Given the description of an element on the screen output the (x, y) to click on. 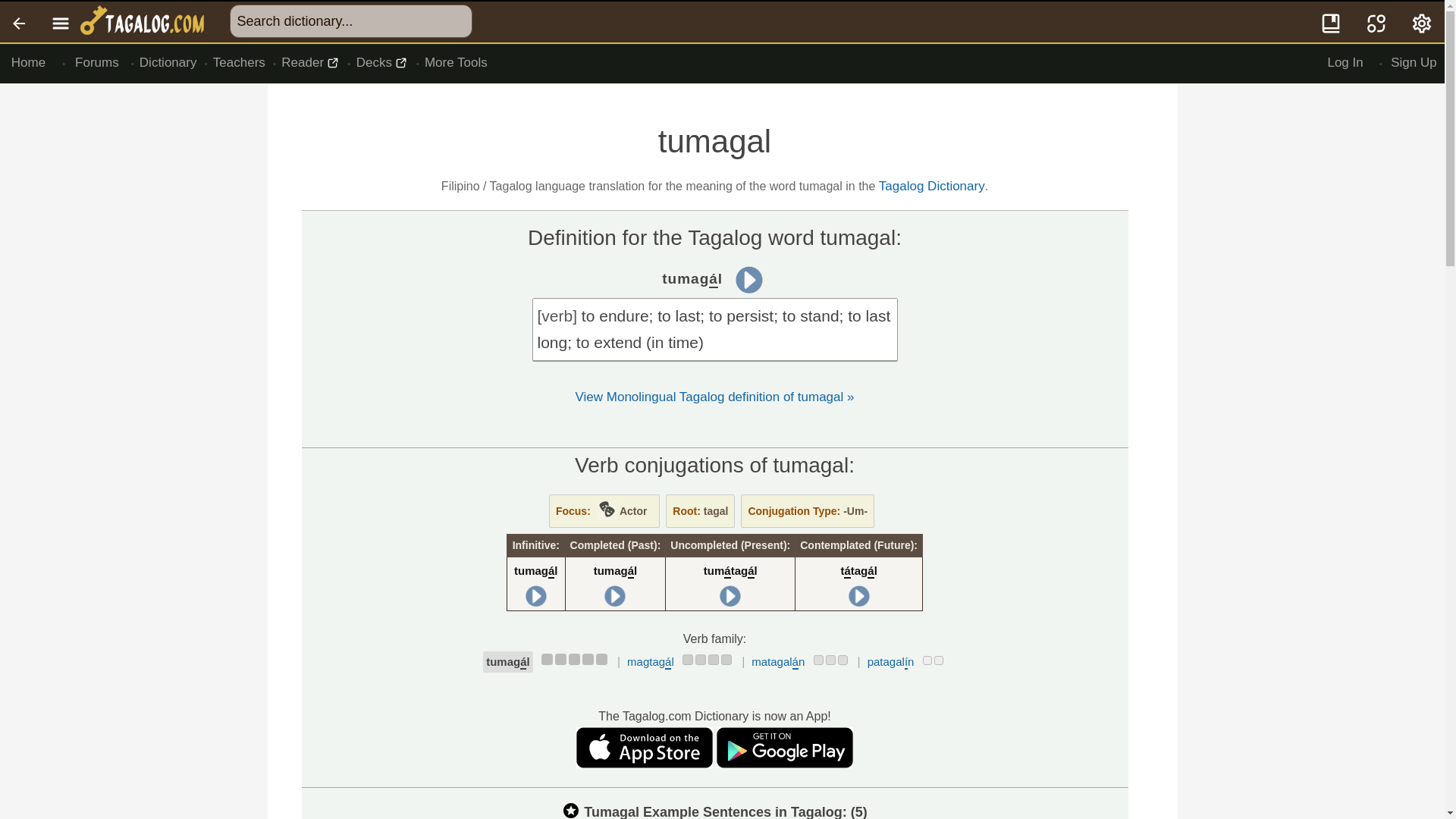
More Tools (455, 62)
Translate To English (1376, 21)
My Account (1422, 21)
Sign Up (1414, 62)
Tagalog Dictionary (932, 186)
Quick Dictionary Search (1331, 21)
Tagalog Logo (144, 21)
Root: tagal (700, 510)
More Tools (455, 62)
Log In (1345, 62)
Back Link (19, 21)
Reader (310, 62)
Home (28, 62)
Teachers (239, 62)
Decks (381, 62)
